Given the description of an element on the screen output the (x, y) to click on. 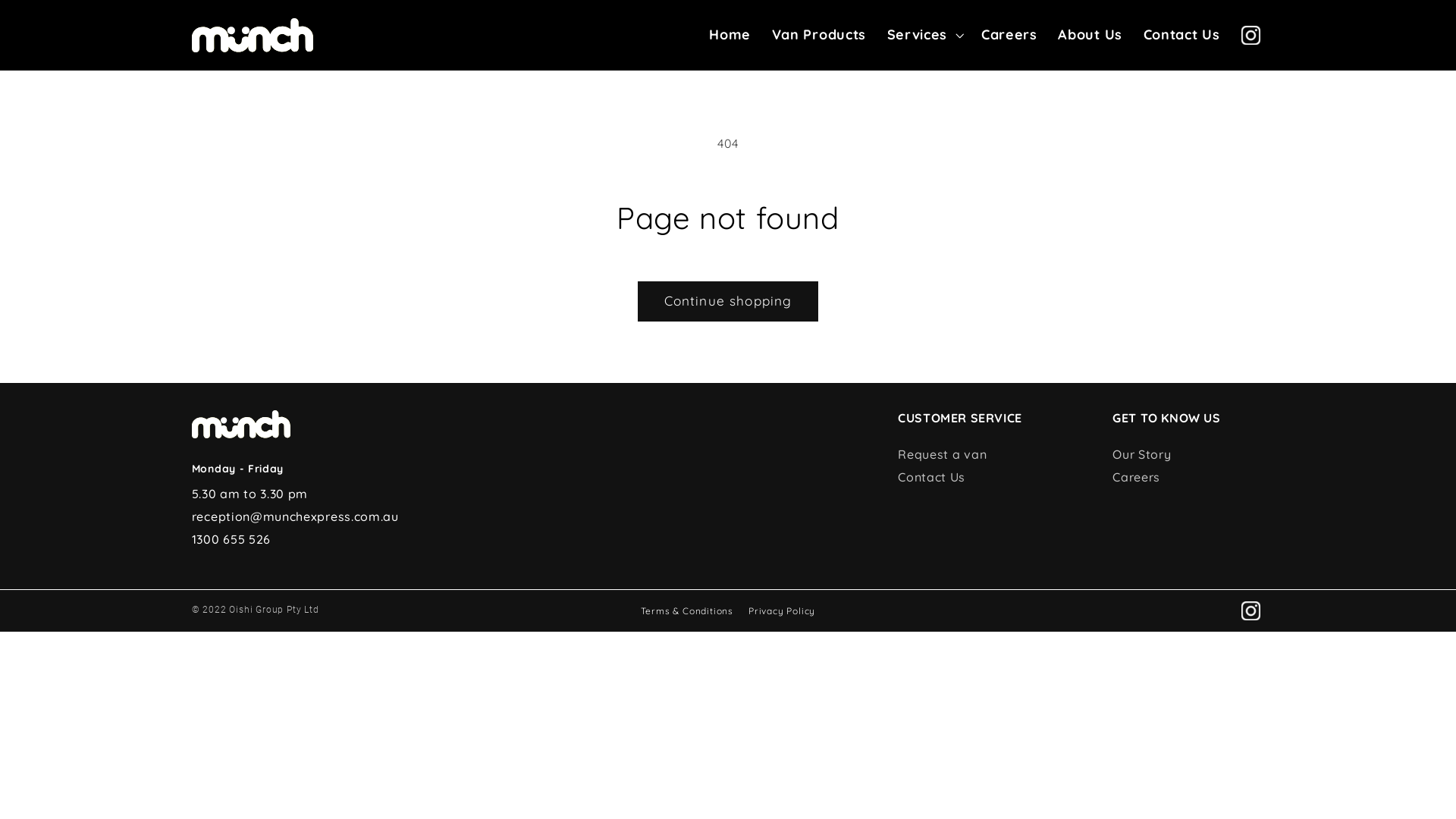
Contact Us Element type: text (1181, 34)
Careers Element type: text (1008, 34)
Continue shopping Element type: text (727, 301)
About Us Element type: text (1090, 34)
Privacy Policy Element type: text (781, 610)
reception@munchexpress.com.au Element type: text (294, 516)
Instagram Element type: text (1250, 610)
Terms & Conditions Element type: text (687, 610)
Home Element type: text (730, 34)
Contact Us Element type: text (931, 476)
Van Products Element type: text (818, 34)
Request a van Element type: text (941, 453)
Our Story Element type: text (1141, 453)
Careers Element type: text (1136, 476)
1300 655 526 Element type: text (230, 538)
Instagram Element type: text (1250, 34)
